Given the description of an element on the screen output the (x, y) to click on. 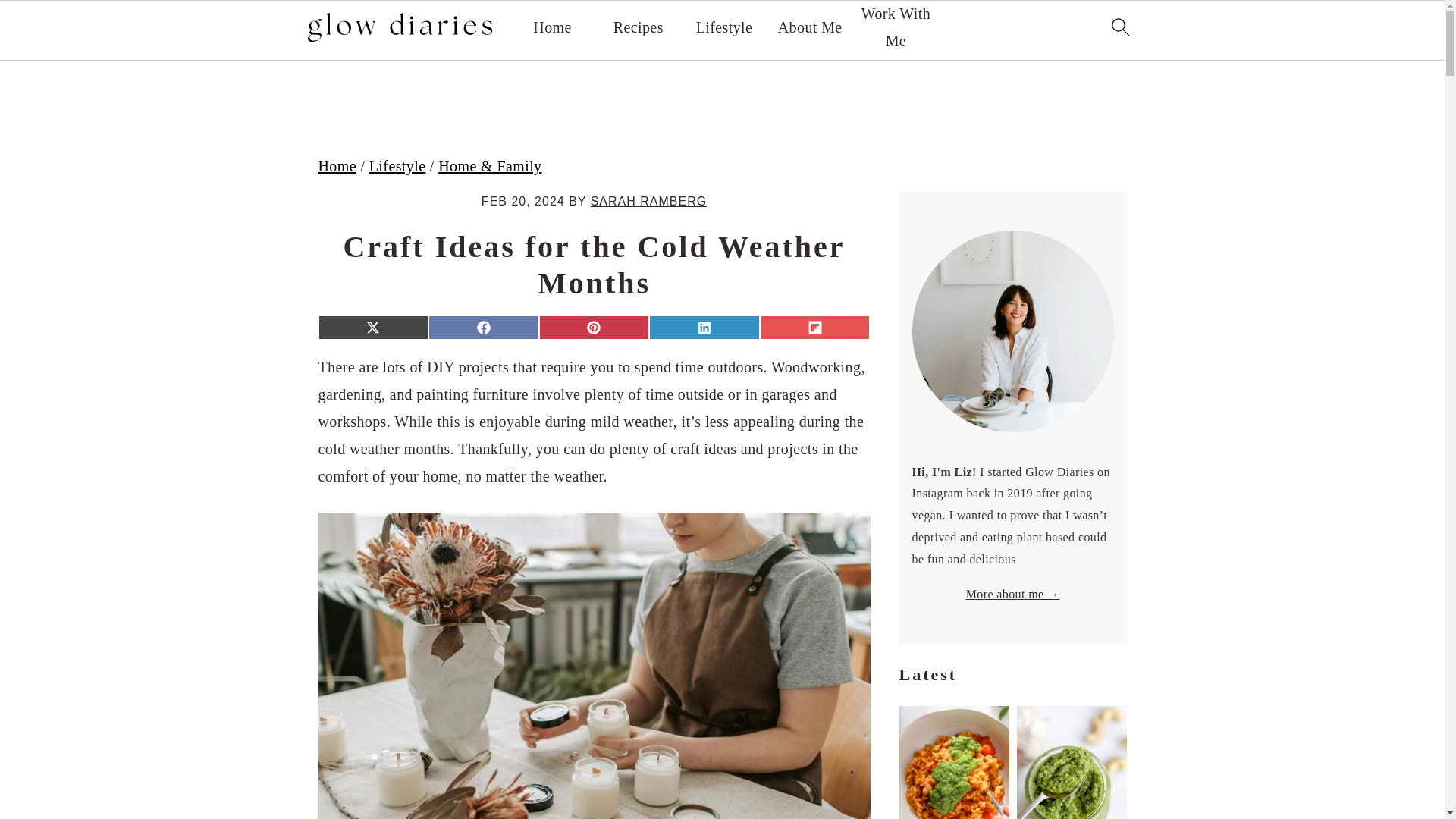
About Me (810, 26)
SHARE ON LINKEDIN (704, 327)
SARAH RAMBERG (648, 201)
Home (551, 26)
Home (337, 166)
SHARE ON FLIP IT (815, 327)
search icon (1119, 26)
Lifestyle (397, 166)
SHARE ON FACEBOOK (483, 327)
